Given the description of an element on the screen output the (x, y) to click on. 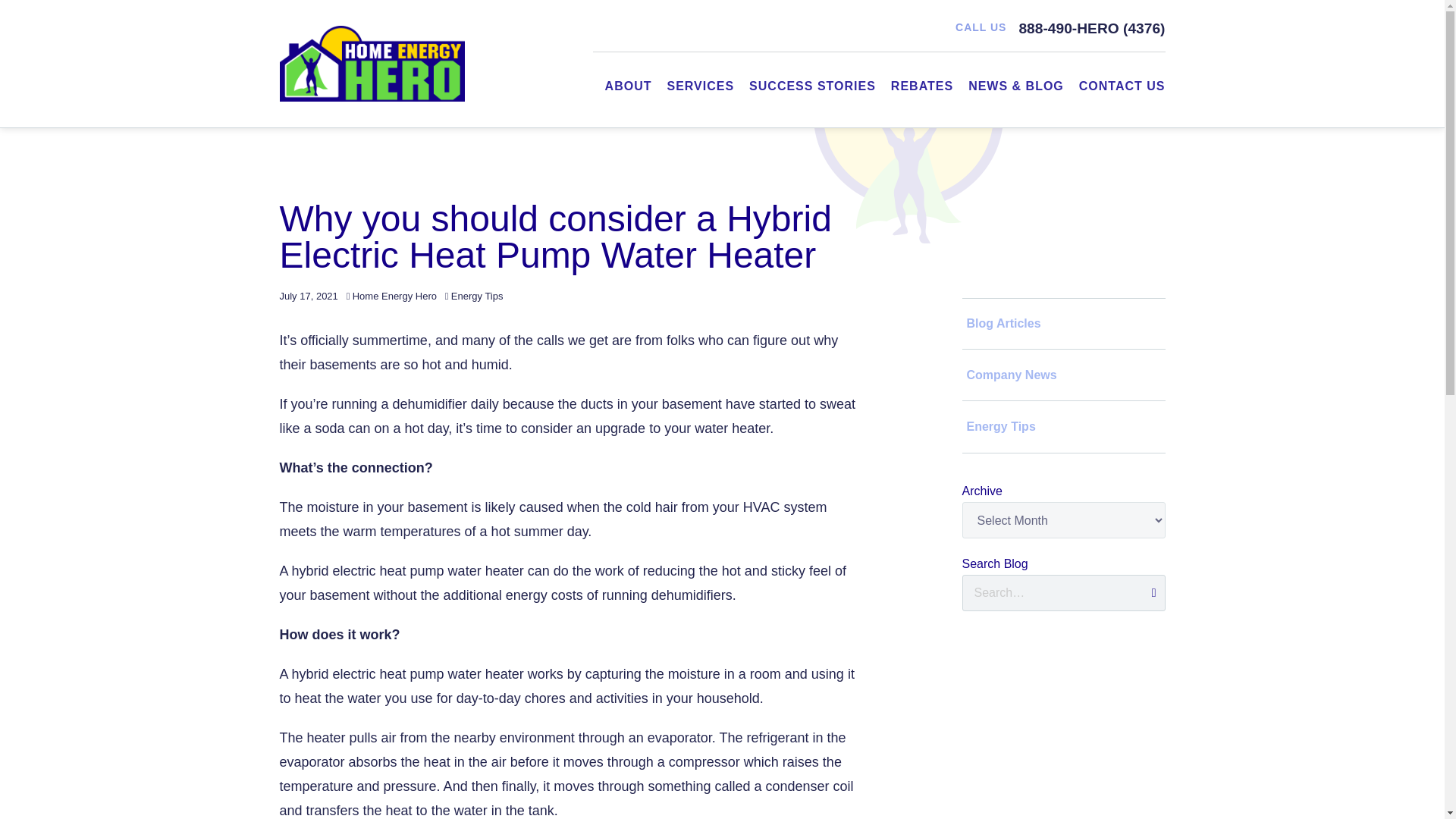
SERVICES (699, 86)
Blog Articles (1062, 323)
Energy Tips (477, 296)
Home Energy Hero (394, 296)
Company News (1062, 375)
SUCCESS STORIES (812, 86)
CONTACT US (1122, 86)
REBATES (922, 86)
July 17, 2021 (308, 296)
